Given the description of an element on the screen output the (x, y) to click on. 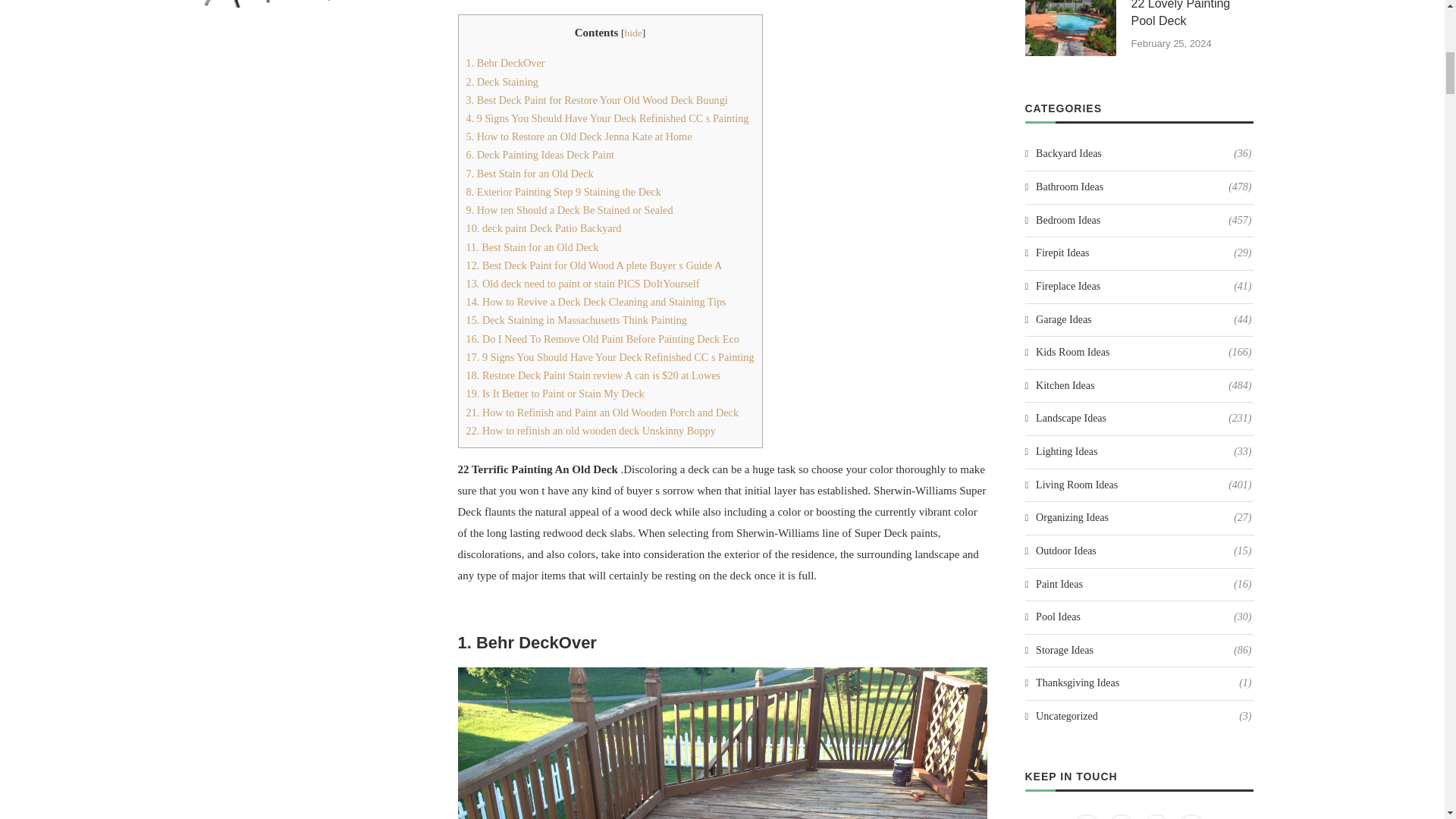
3. Best Deck Paint for Restore Your Old Wood Deck Buungi (595, 100)
11. Best Stain for an Old Deck (531, 246)
7. Best Stain for an Old Deck (528, 173)
16. Do I Need To Remove Old Paint Before Painting Deck Eco (601, 338)
10. deck paint Deck Patio Backyard (543, 227)
8. Exterior Painting Step 9 Staining the Deck (563, 191)
2. Deck Staining (501, 81)
9. How ten Should a Deck Be Stained or Sealed (568, 209)
1. Behr DeckOver (504, 62)
behr deckover (722, 743)
hide (633, 32)
13. Old deck need to paint or stain PICS DoItYourself (581, 283)
12. Best Deck Paint for Old Wood A plete Buyer s Guide A (593, 265)
